Given the description of an element on the screen output the (x, y) to click on. 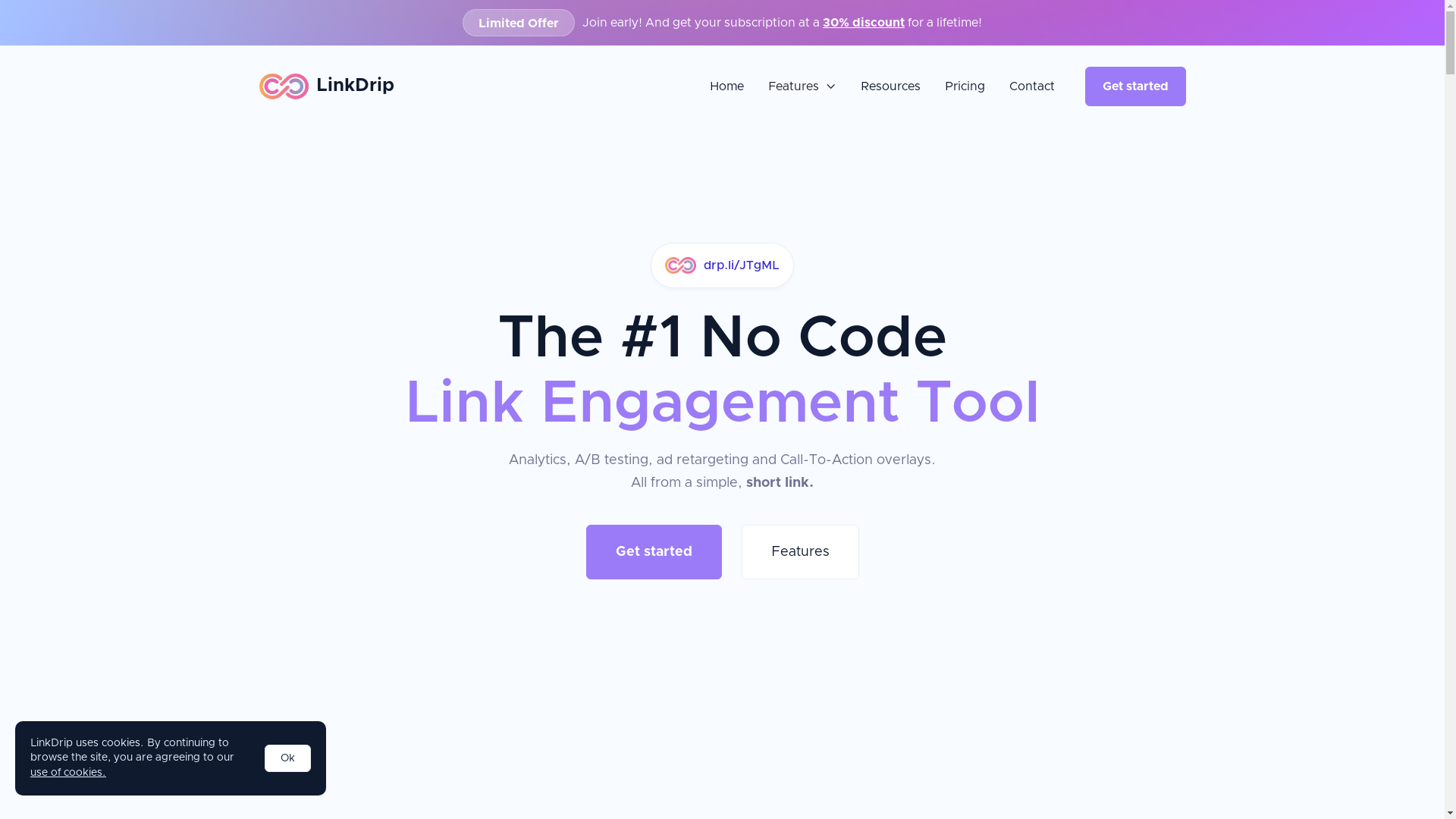
Get started Element type: text (1134, 86)
Features Element type: text (800, 551)
Get started Element type: text (653, 551)
Contact Element type: text (1031, 86)
LinkDrip Element type: text (329, 86)
Pricing Element type: text (964, 86)
drp.li/JTgML Element type: text (721, 265)
Home Element type: text (726, 86)
Resources Element type: text (889, 86)
use of cookies. Element type: text (68, 772)
